Given the description of an element on the screen output the (x, y) to click on. 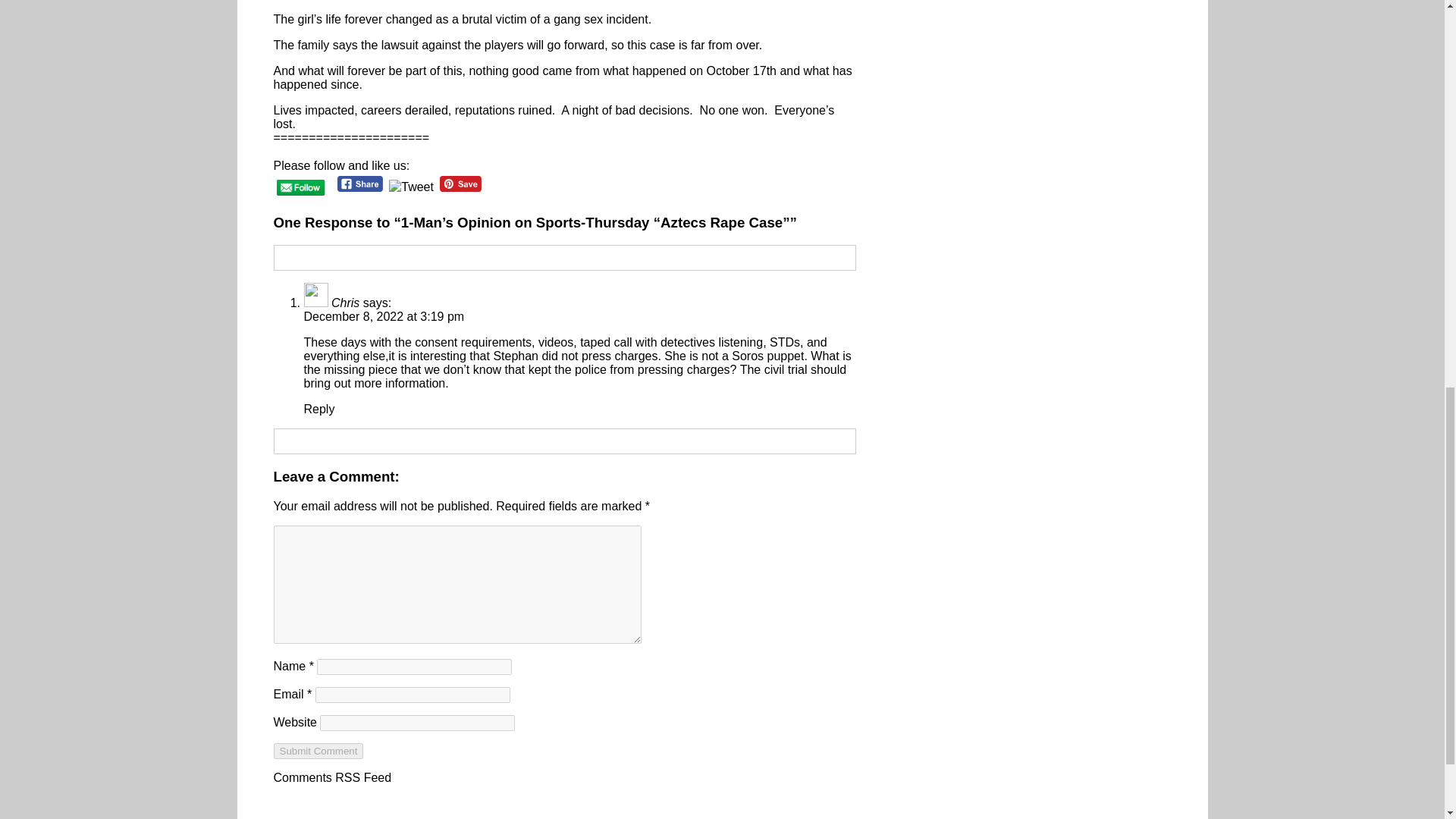
Submit Comment (317, 750)
Reply (318, 408)
December 8, 2022 at 3:19 pm (383, 316)
Comments RSS Feed (332, 777)
Submit Comment (317, 750)
Tweet (410, 186)
Pin Share (460, 183)
Facebook Share (360, 183)
